Given the description of an element on the screen output the (x, y) to click on. 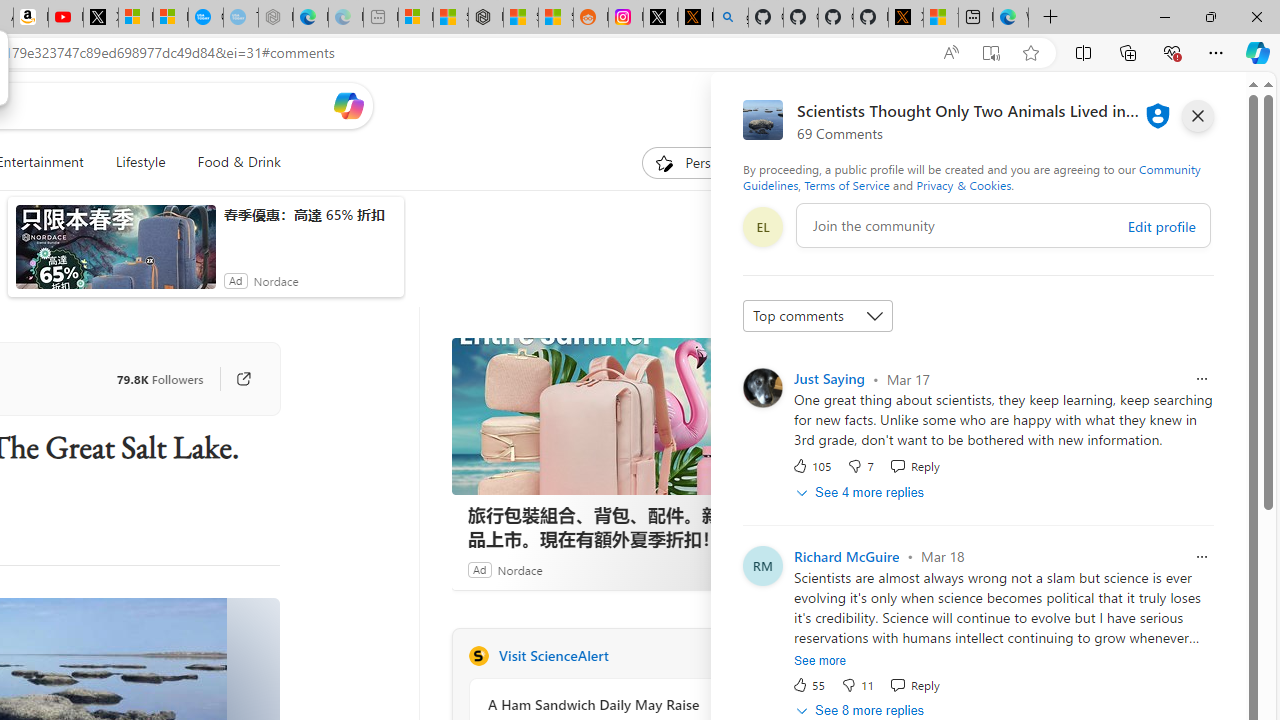
close (1197, 115)
Microsoft account | Microsoft Account Privacy Settings (415, 17)
Nordace - Nordace has arrived Hong Kong - Sleeping (275, 17)
Nordace - Duffels (485, 17)
Open settings (1216, 105)
Ad Choice (729, 569)
Dislike (856, 683)
New tab - Sleeping (380, 17)
Richard McGuire (846, 556)
Ad (479, 569)
anim-content (115, 255)
Microsoft rewards (1137, 105)
